Given the description of an element on the screen output the (x, y) to click on. 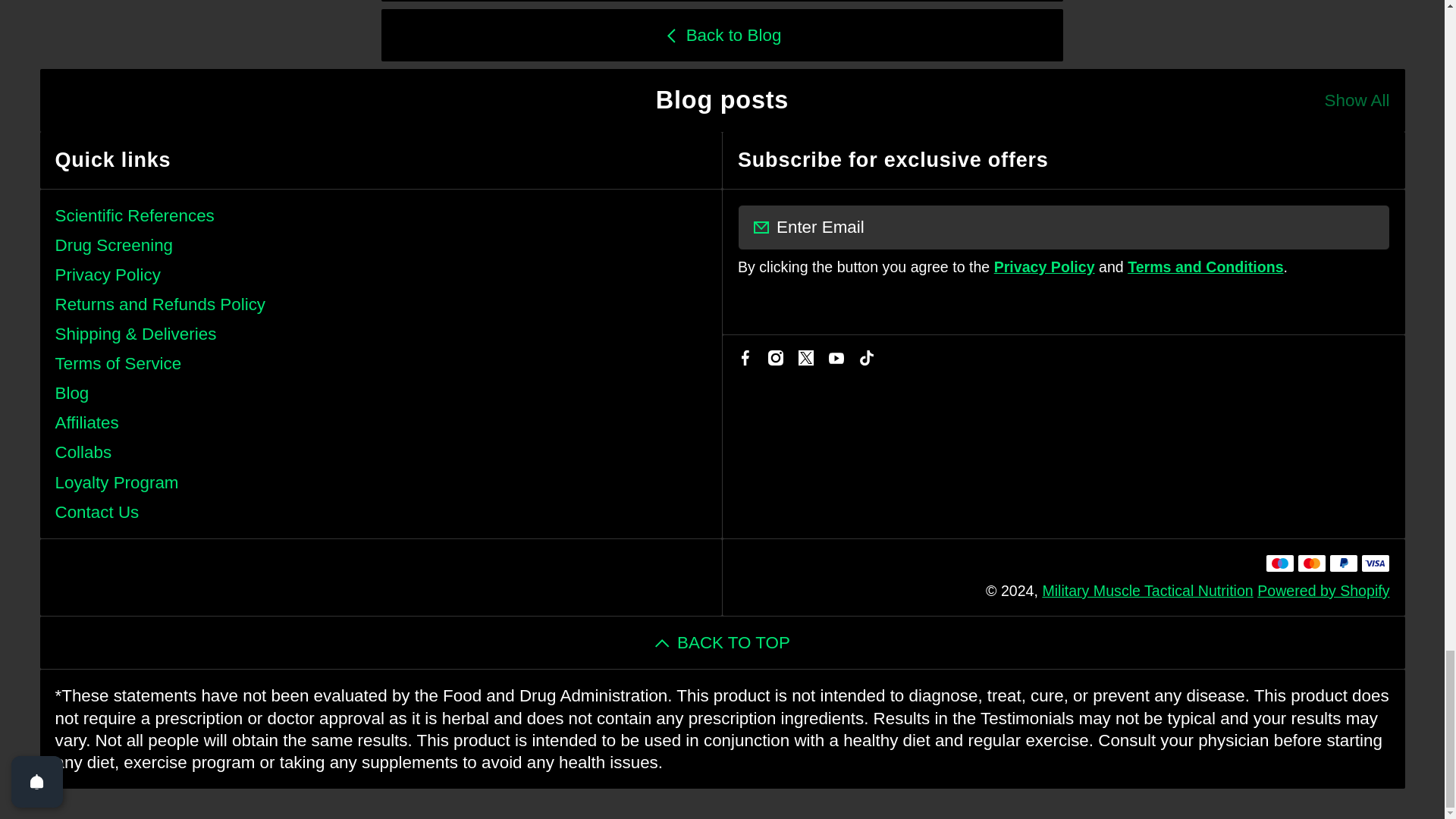
PayPal (1341, 563)
Maestro (1279, 563)
Mastercard (1310, 563)
Visa (1374, 563)
